Given the description of an element on the screen output the (x, y) to click on. 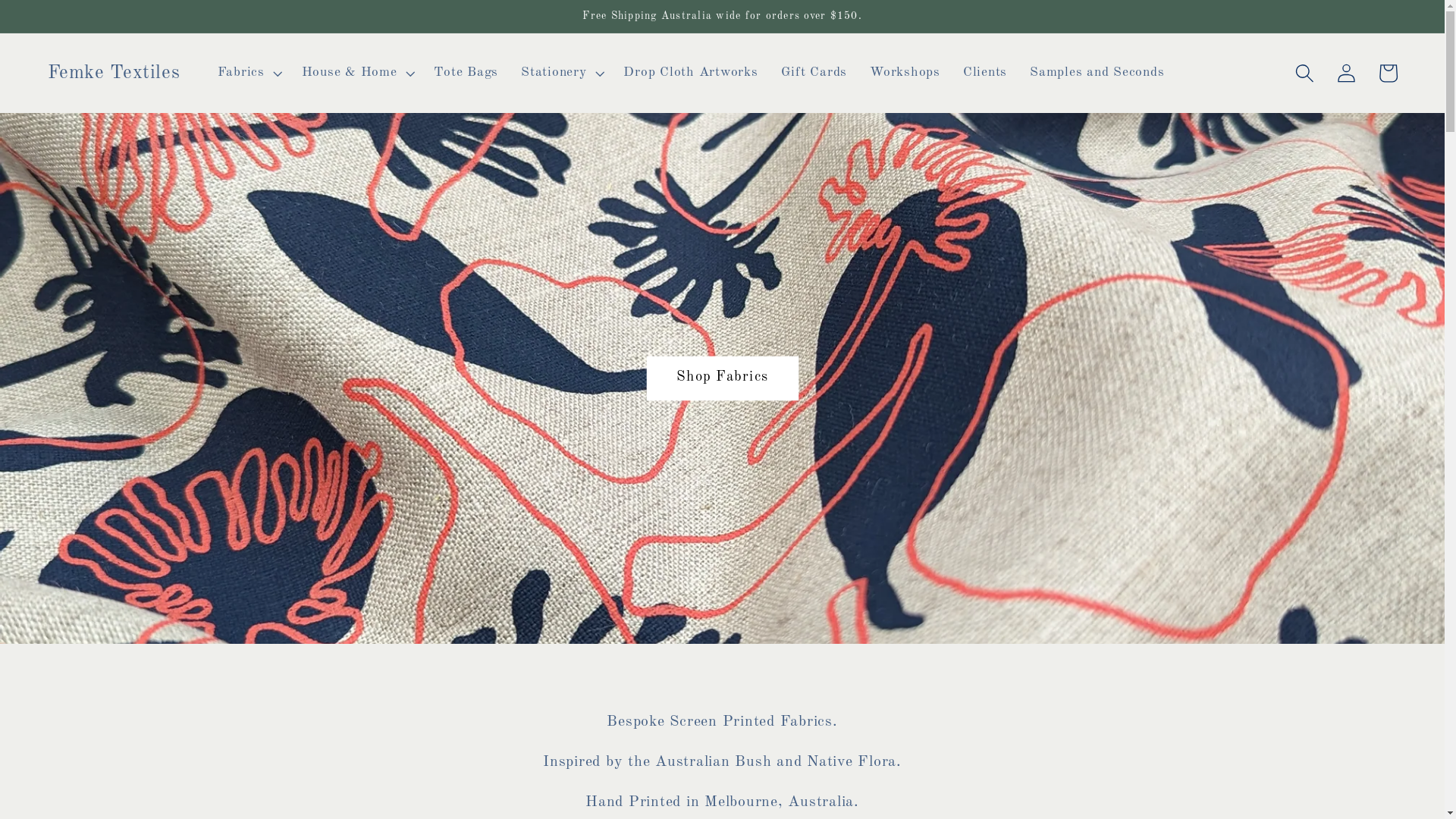
Samples and Seconds Element type: text (1096, 72)
Femke Textiles Element type: text (113, 72)
Shop Fabrics Element type: text (722, 378)
Gift Cards Element type: text (814, 72)
Workshops Element type: text (904, 72)
Cart Element type: text (1387, 73)
Tote Bags Element type: text (465, 72)
Clients Element type: text (984, 72)
Drop Cloth Artworks Element type: text (689, 72)
Log in Element type: text (1346, 73)
